Given the description of an element on the screen output the (x, y) to click on. 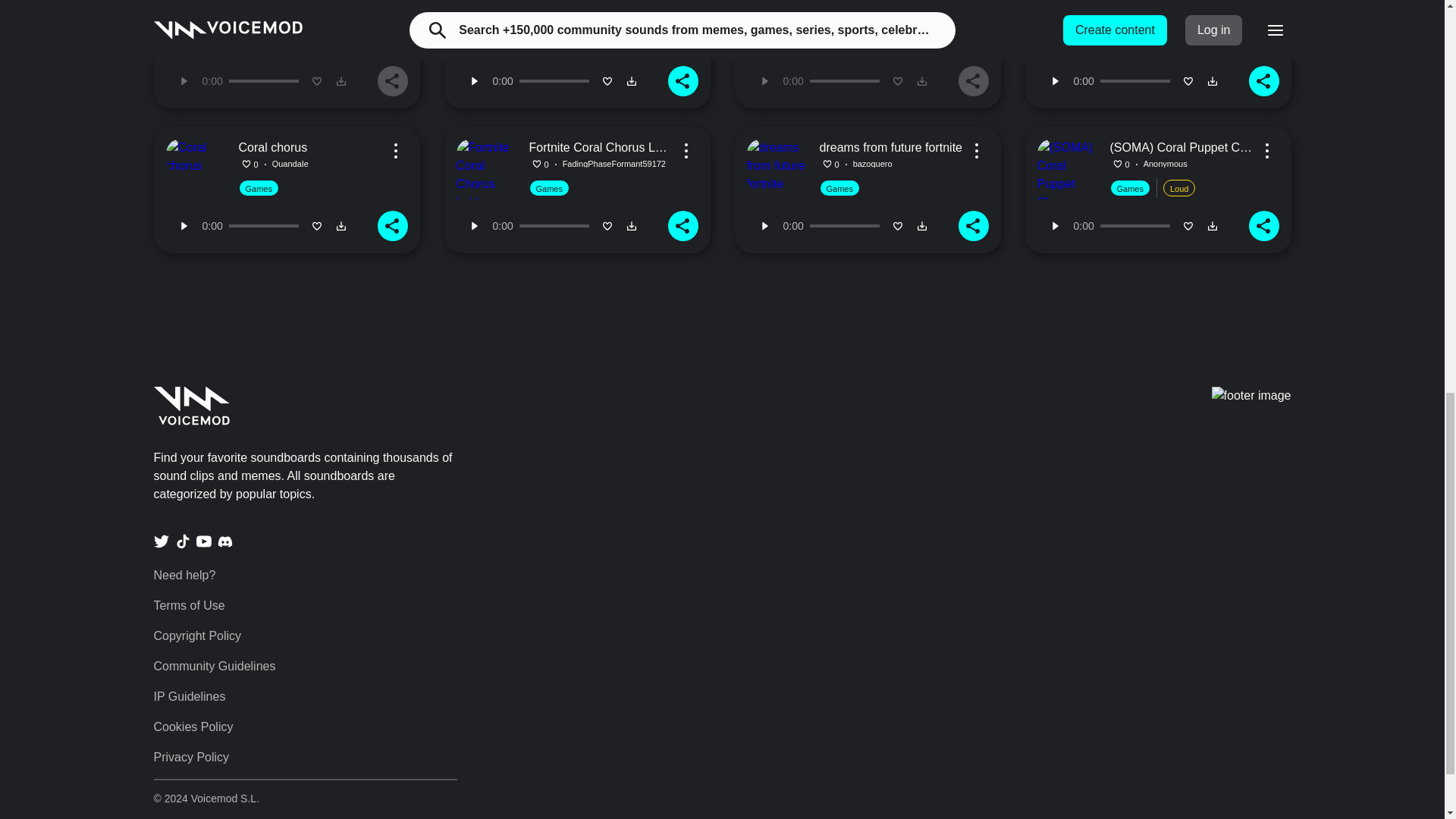
0 (1135, 80)
0 (554, 80)
0 (554, 225)
0 (844, 80)
0 (844, 225)
0 (263, 225)
0 (1135, 225)
0 (263, 80)
